Given the description of an element on the screen output the (x, y) to click on. 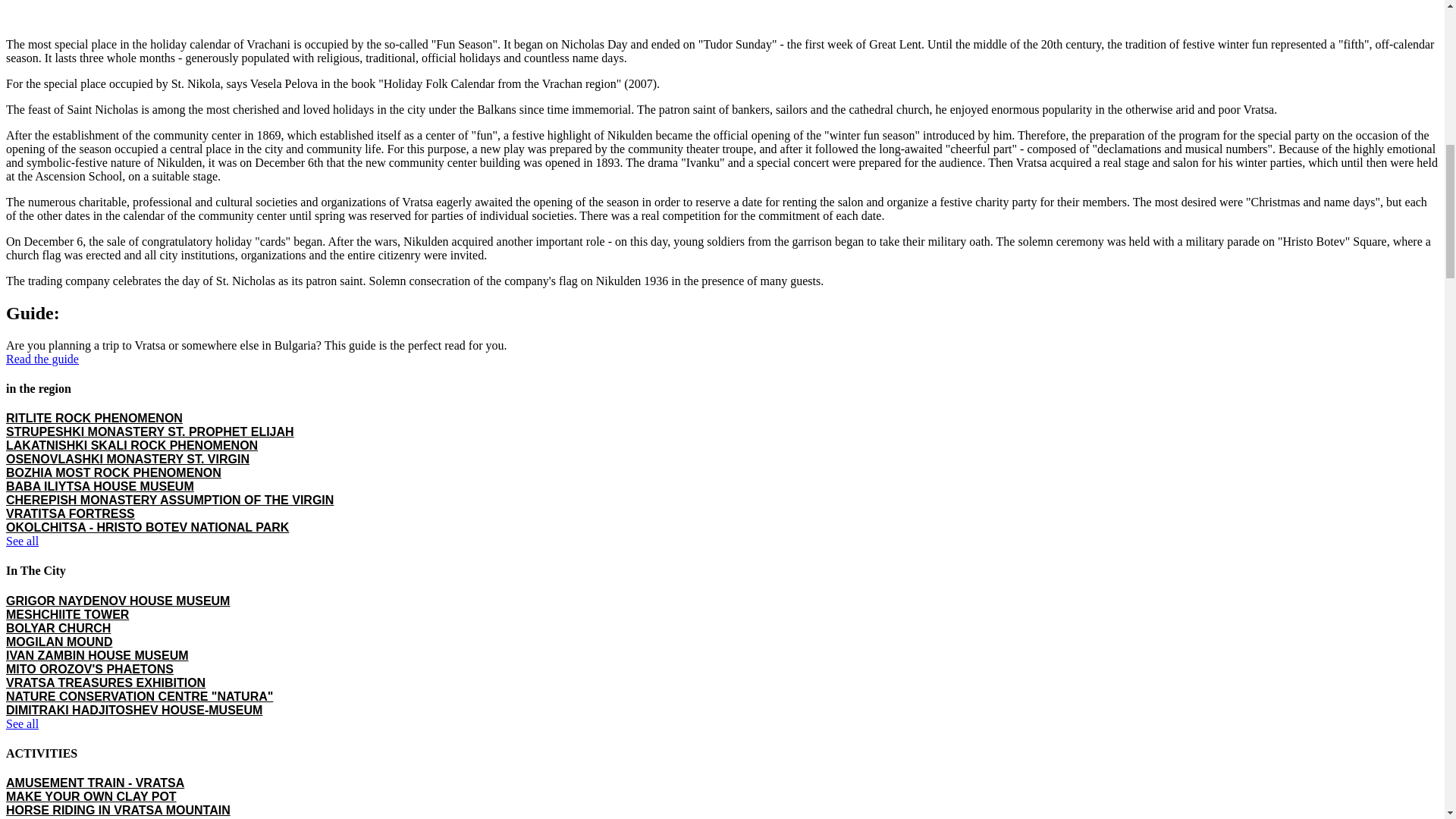
See all (22, 723)
Read the guide (41, 358)
GRIGOR NAYDENOV HOUSE MUSEUM (117, 600)
LEDENIKA PARK (54, 818)
IVAN ZAMBIN HOUSE MUSEUM (97, 655)
HORSE RIDING IN VRATSA MOUNTAIN (117, 809)
AMUSEMENT TRAIN - VRATSA (94, 782)
BOLYAR CHURCH (57, 627)
CHEREPISH MONASTERY ASSUMPTION OF THE VIRGIN (169, 499)
VRATITSA FORTRESS (70, 513)
LAKATNISHKI SKALI ROCK PHENOMENON (131, 445)
MOGILAN MOUND (58, 641)
MAKE YOUR OWN CLAY POT (90, 796)
See all (22, 540)
VRATSA TREASURES EXHIBITION (105, 682)
